Given the description of an element on the screen output the (x, y) to click on. 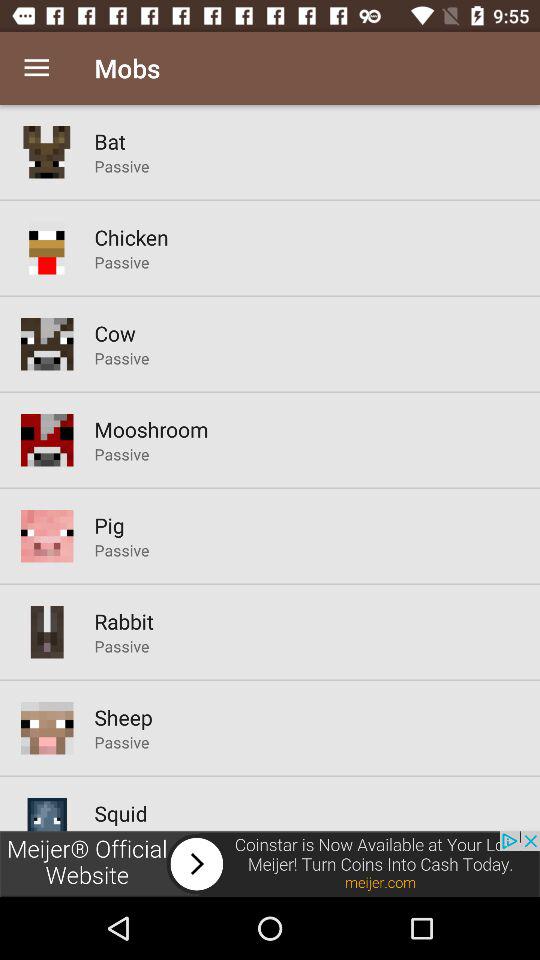
click advertisement for meijer (270, 864)
